Given the description of an element on the screen output the (x, y) to click on. 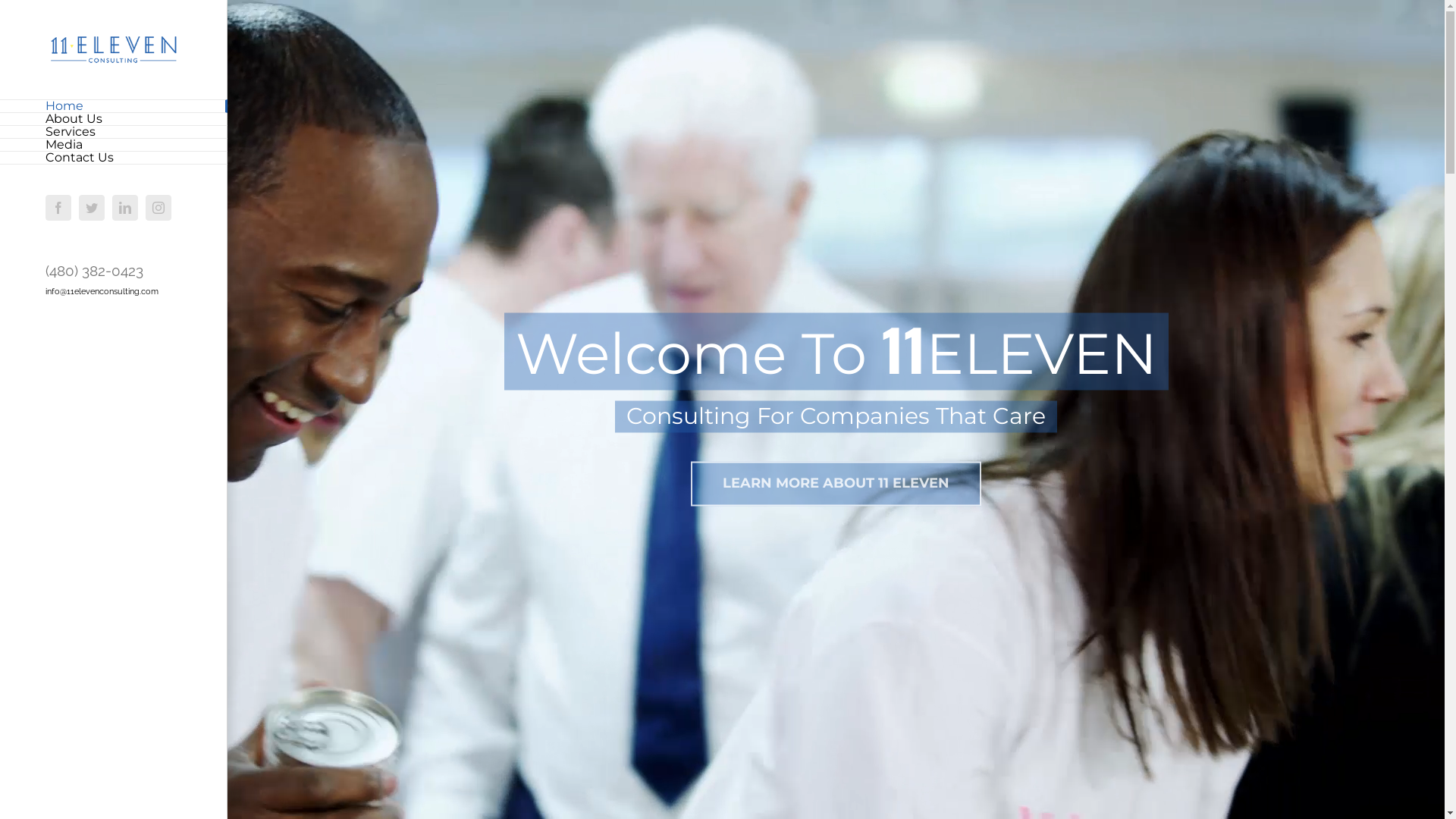
Home Element type: text (113, 105)
Contact Us Element type: text (113, 157)
LEARN MORE ABOUT 11 ELEVEN Element type: text (835, 483)
Services Element type: text (113, 131)
Instagram Element type: text (158, 207)
info@11elevenconsulting.com Element type: text (101, 291)
Twitter Element type: text (91, 207)
Facebook Element type: text (58, 207)
Media Element type: text (113, 144)
About Us Element type: text (113, 118)
LinkedIn Element type: text (125, 207)
